Given the description of an element on the screen output the (x, y) to click on. 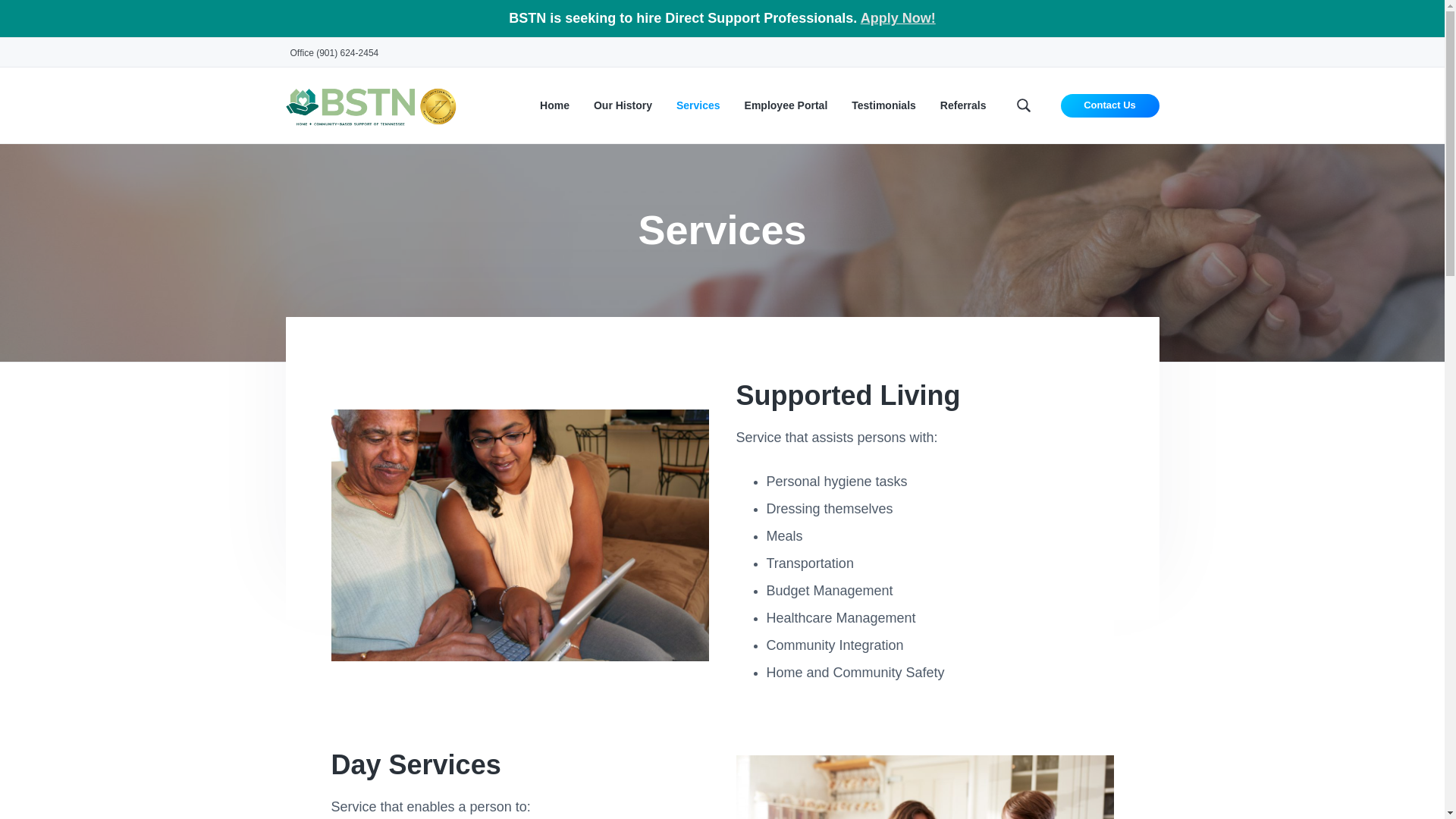
Search (60, 18)
Referrals (963, 105)
Home (554, 105)
Apply Now! (898, 17)
Services (698, 105)
Contact Us (1109, 105)
Testimonials (883, 105)
Employee Portal (786, 105)
Our History (623, 105)
